Given the description of an element on the screen output the (x, y) to click on. 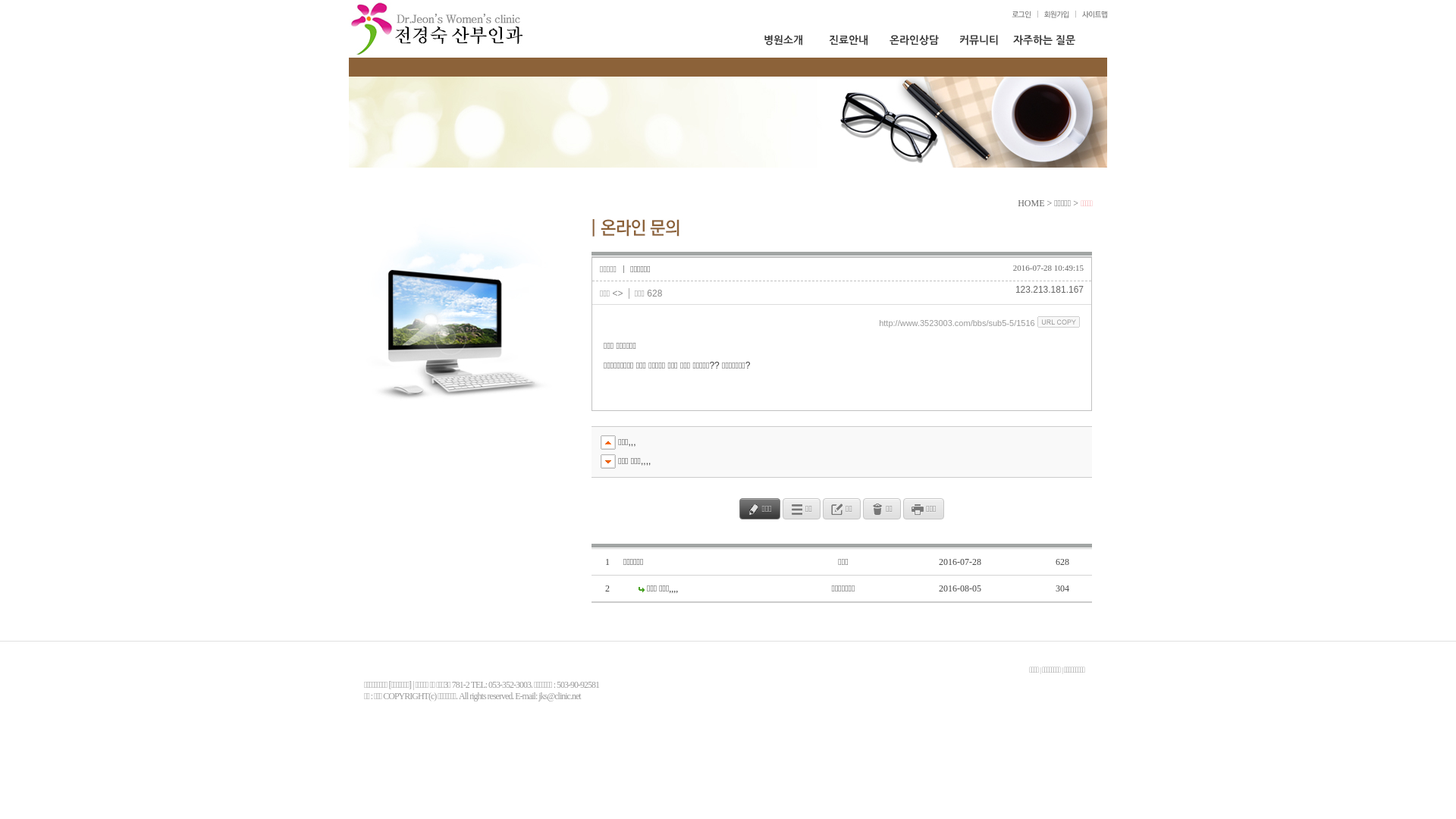
URL COPY Element type: hover (1058, 321)
http://www.3523003.com/bbs/sub5-5/1516 Element type: text (956, 322)
